Given the description of an element on the screen output the (x, y) to click on. 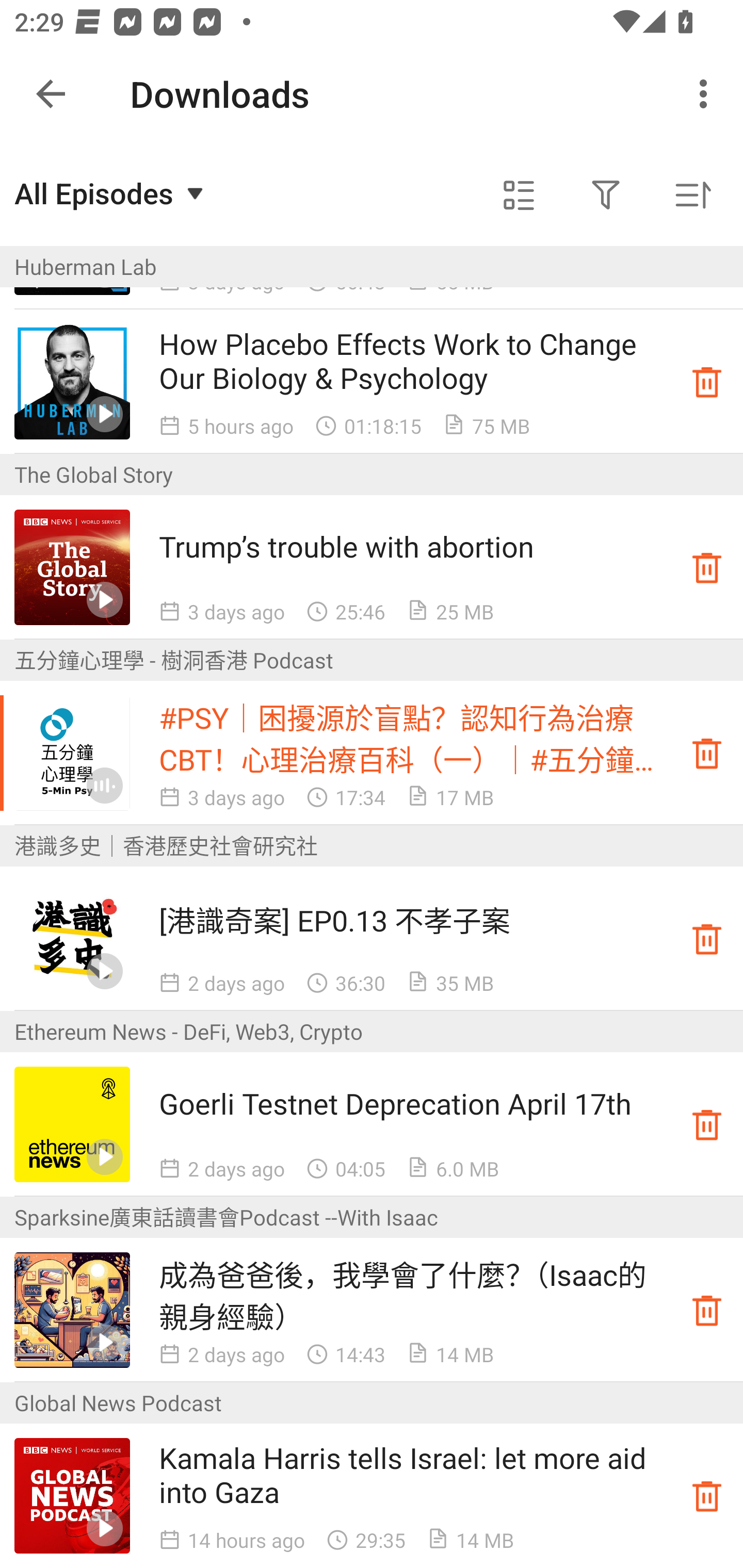
Navigate up (50, 93)
More options (706, 93)
All Episodes (111, 192)
 (518, 195)
 (605, 195)
 Sorted by oldest first (692, 195)
Downloaded (706, 381)
Downloaded (706, 567)
Downloaded (706, 752)
Downloaded (706, 938)
Downloaded (706, 1124)
Downloaded (706, 1309)
Downloaded (706, 1495)
